Given the description of an element on the screen output the (x, y) to click on. 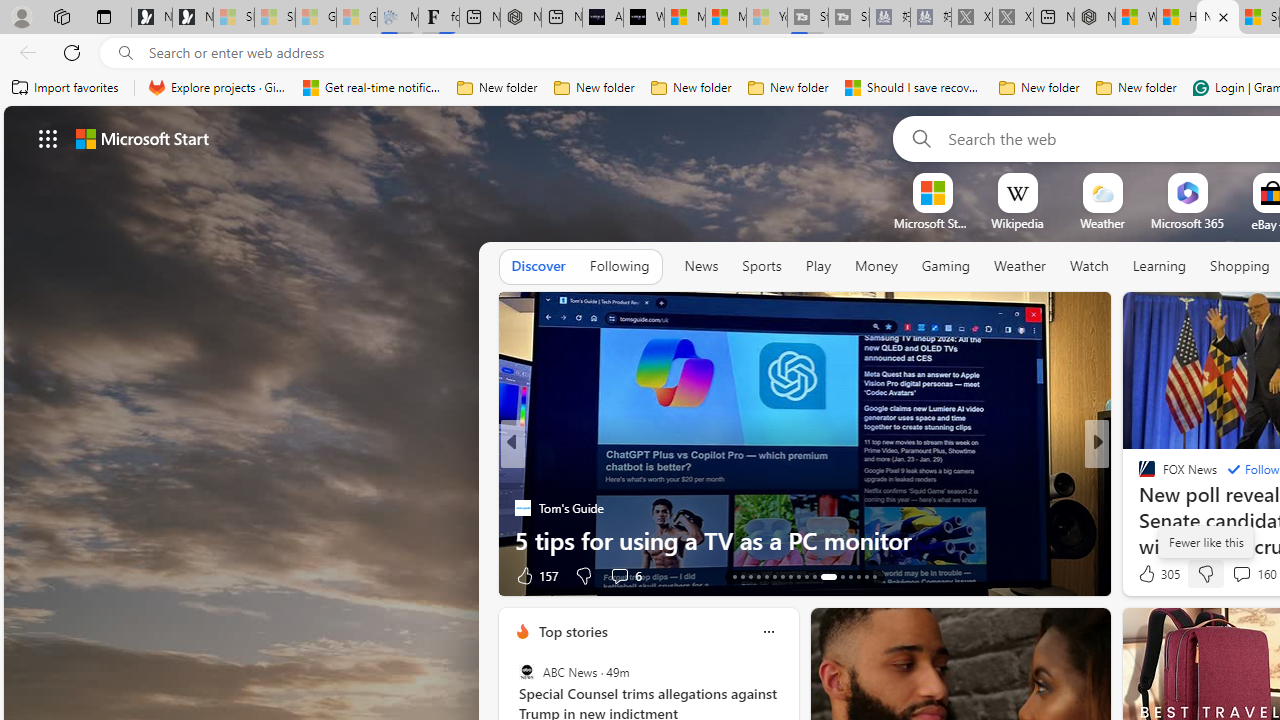
Liron Segev (1138, 507)
AutomationID: tab-25 (842, 576)
AutomationID: tab-43 (874, 576)
AutomationID: tab-16 (757, 576)
Forge of Empires (1175, 507)
Gaming (945, 267)
124 Like (1151, 574)
20 Like (1149, 574)
AutomationID: tab-23 (814, 576)
305 Like (1157, 574)
Personal Profile (21, 16)
AutomationID: tab-14 (742, 576)
Newsletter Sign Up (192, 17)
Reuters (1138, 475)
